Given the description of an element on the screen output the (x, y) to click on. 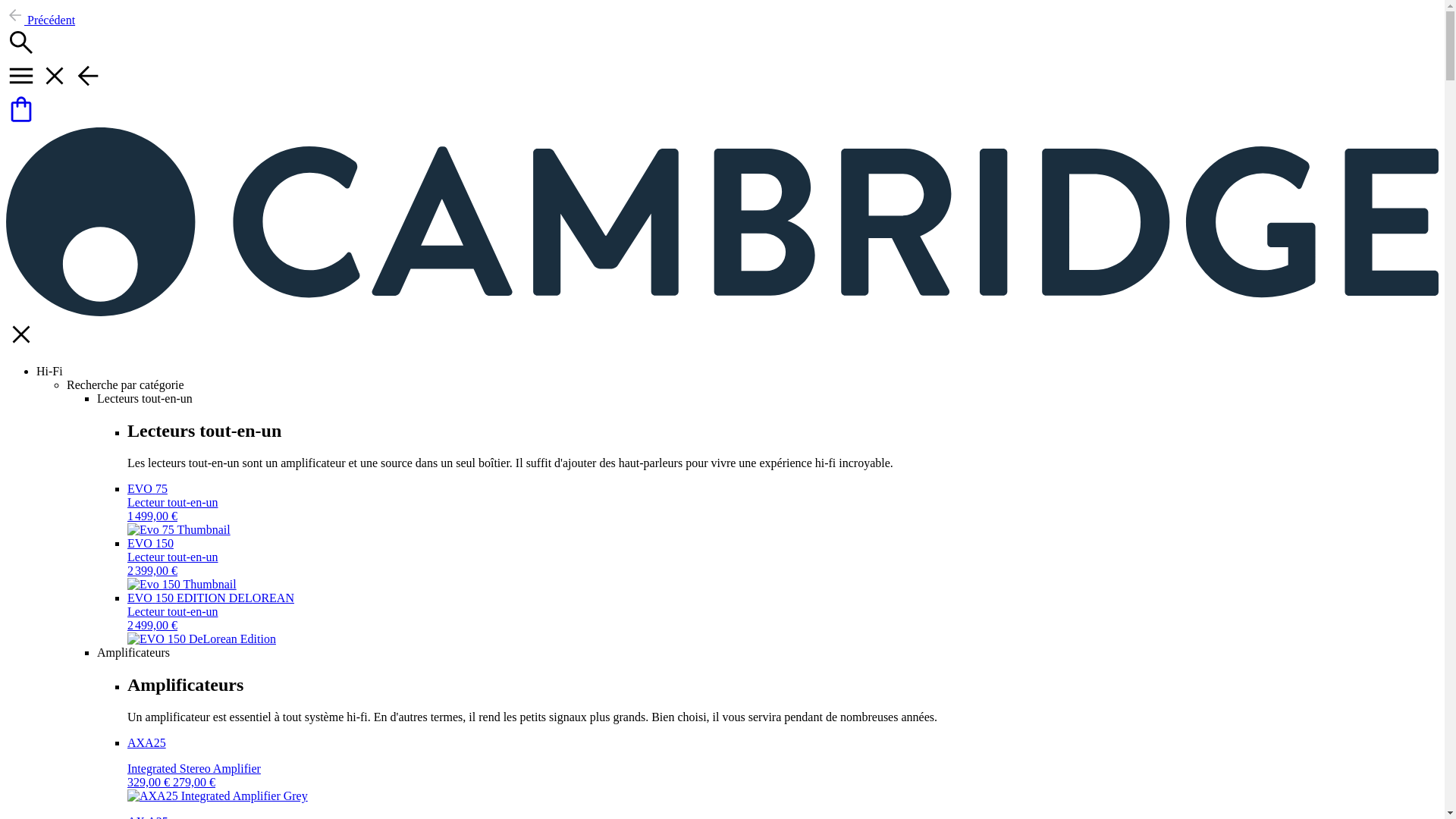
Lecteurs tout-en-un (144, 398)
Hi-Fi (49, 370)
Amplificateurs (133, 652)
